Given the description of an element on the screen output the (x, y) to click on. 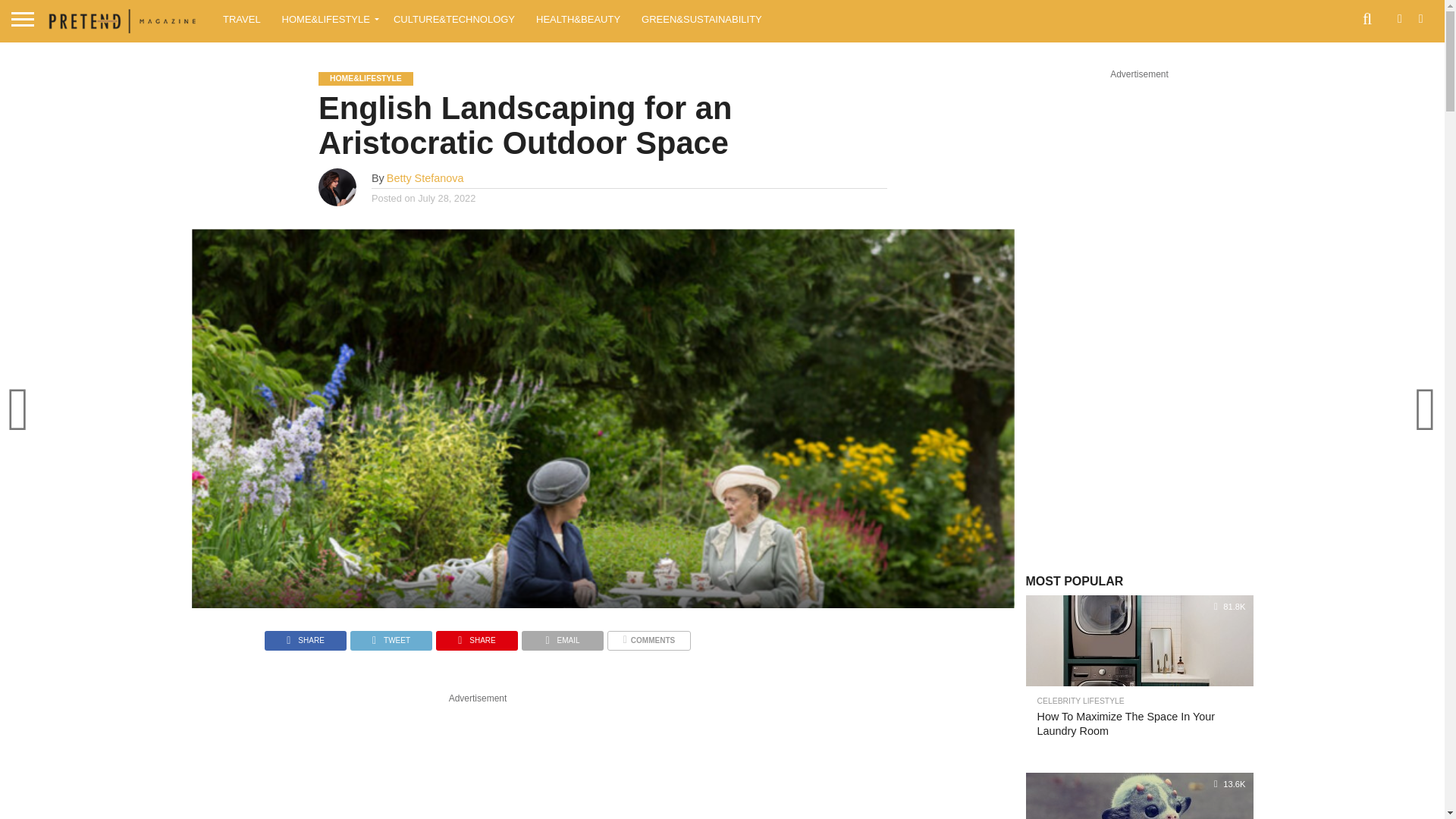
Advertisement (477, 761)
Betty Stefanova (425, 177)
Posts by Betty Stefanova (425, 177)
EMAIL (562, 635)
Health and Beauty tips (577, 18)
Pin This Post (476, 635)
TWEET (390, 635)
Share on Facebook (305, 635)
TRAVEL (241, 18)
COMMENTS (648, 635)
Tweet This Post (390, 635)
SHARE (305, 635)
SHARE (476, 635)
